Given the description of an element on the screen output the (x, y) to click on. 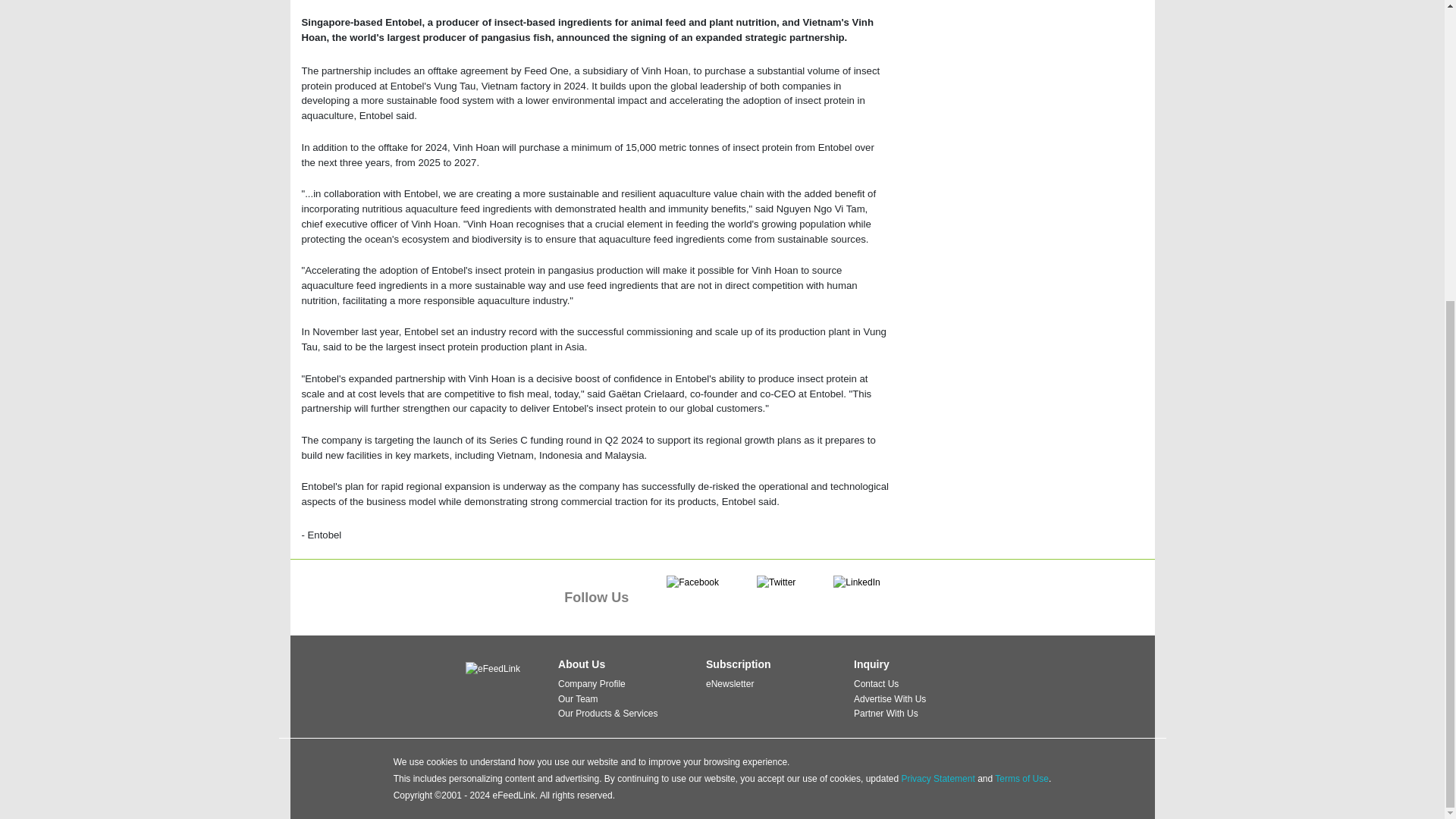
Privacy Statement (937, 778)
eNewsletter (730, 683)
Contact Us (875, 683)
Advertise With Us (889, 698)
Our Team (576, 698)
Company Profile (591, 683)
Partner With Us (885, 713)
Terms of Use (1021, 778)
